Given the description of an element on the screen output the (x, y) to click on. 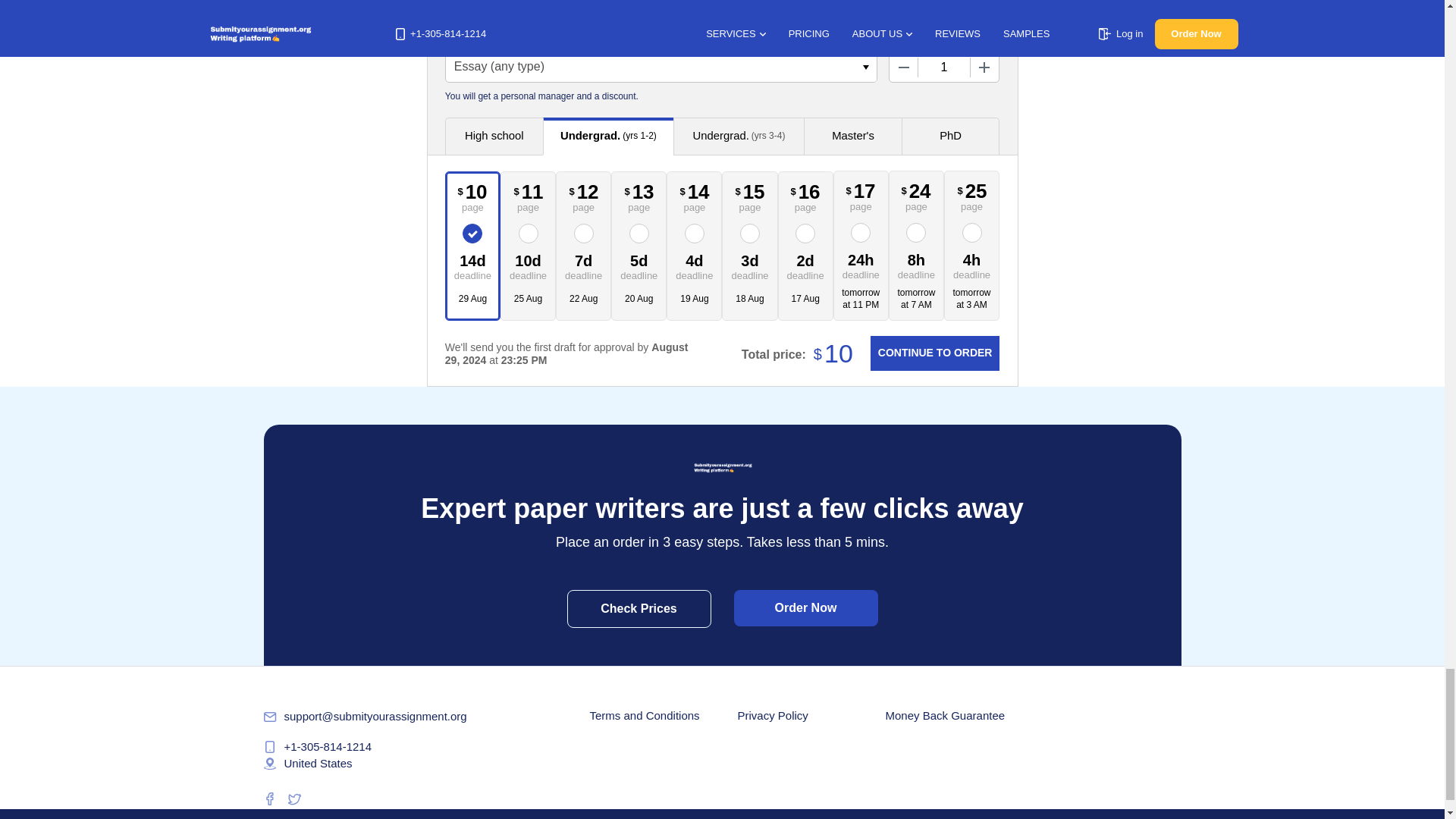
1 (943, 67)
14 days (472, 265)
4 days (694, 265)
5 days (638, 265)
7 days (583, 265)
4 hours (971, 265)
24 hours (860, 265)
3 days (749, 265)
10 days (528, 265)
Increase (983, 67)
